Given the description of an element on the screen output the (x, y) to click on. 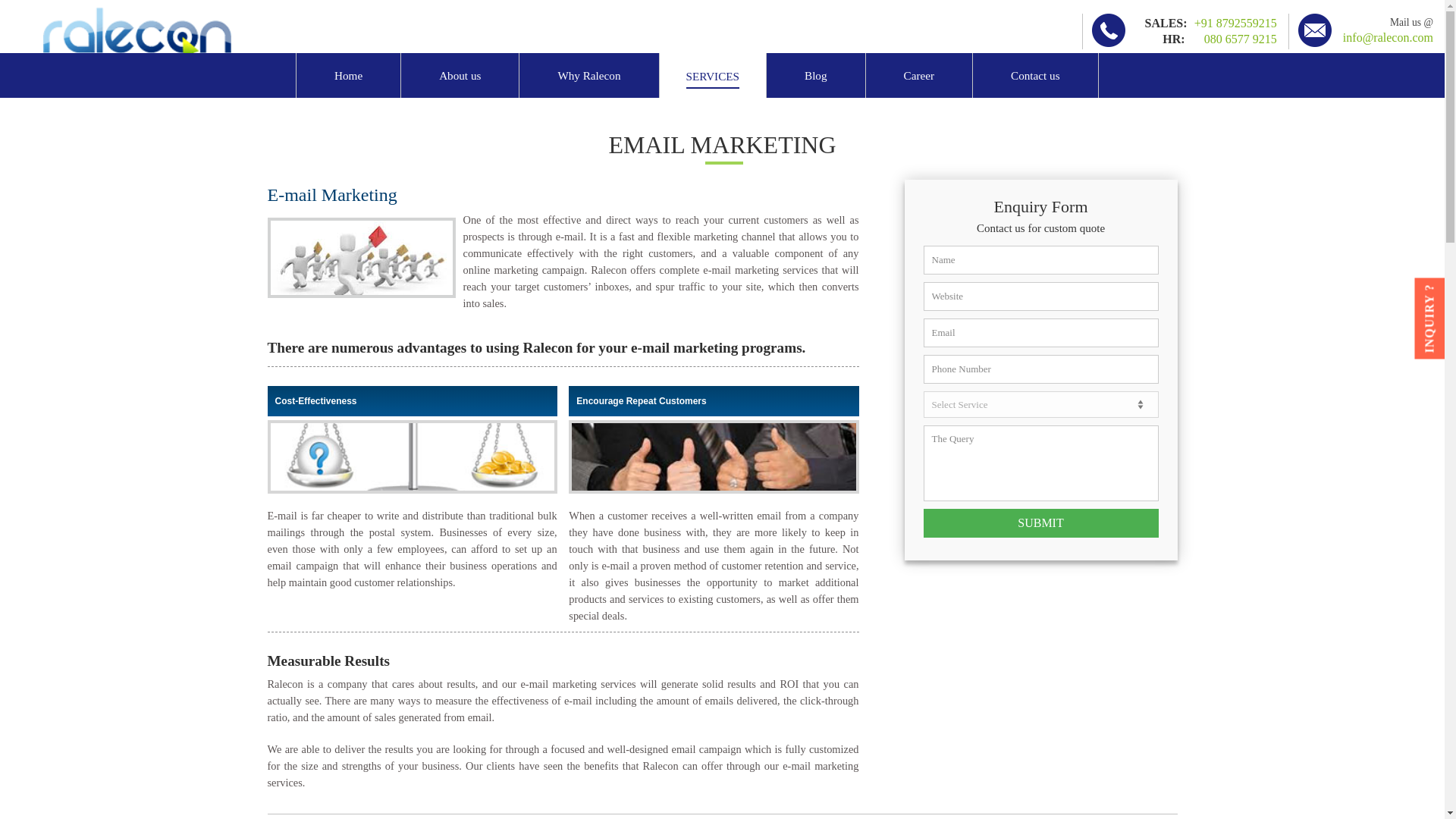
About us (459, 74)
SERVICES (712, 76)
HR:    080 6577 9215 (1206, 39)
E-mail Marketing (364, 257)
Why Ralecon (588, 74)
Home (348, 74)
